Given the description of an element on the screen output the (x, y) to click on. 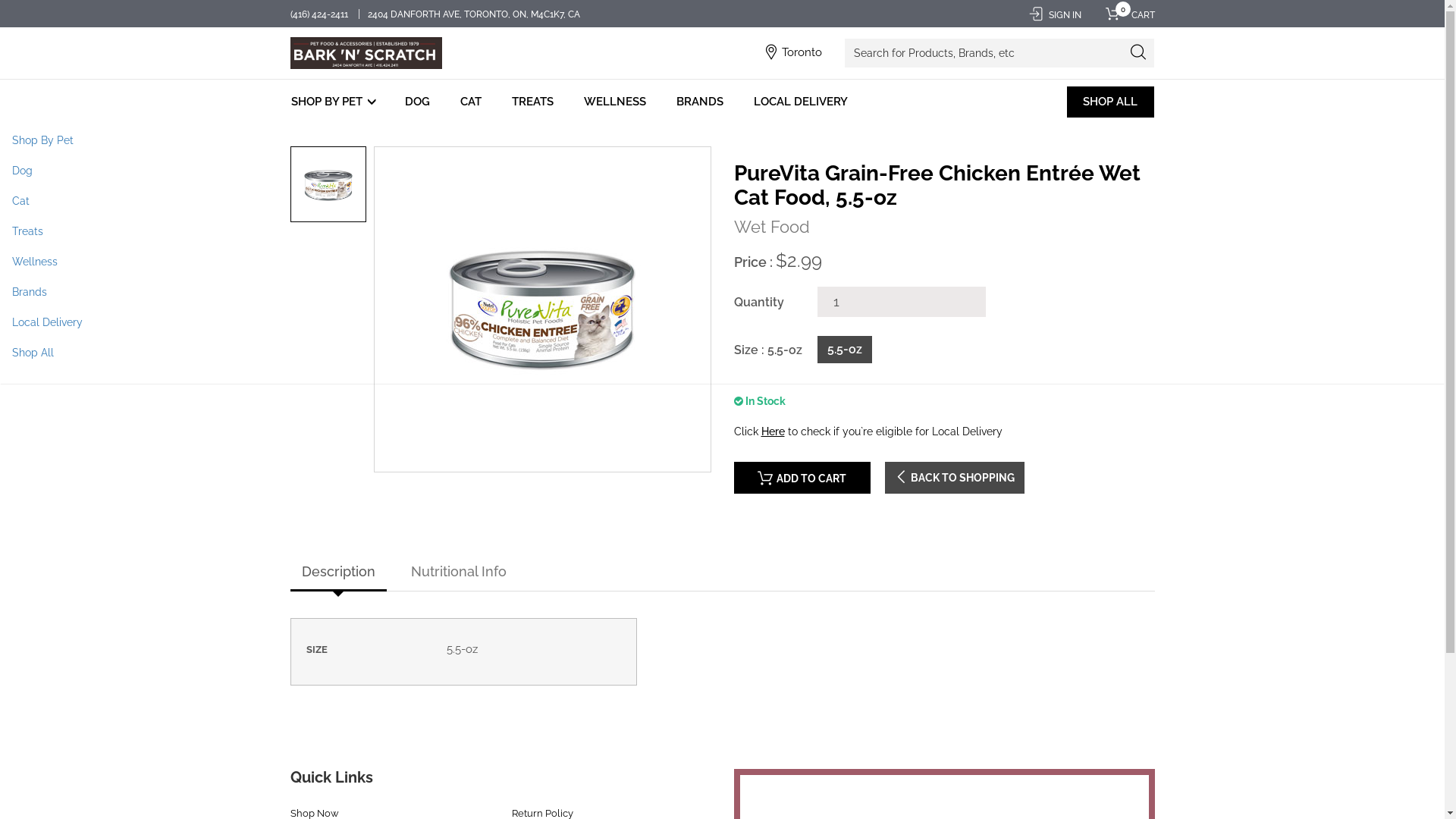
SIGN IN Element type: text (1054, 14)
LOCAL DELIVERY Element type: text (799, 101)
BRANDS Element type: text (698, 101)
TREATS Element type: text (532, 101)
(416) 424-2411 Element type: text (319, 14)
5.5-oz Element type: text (843, 349)
Nutritional Info Element type: text (457, 572)
Description Element type: text (337, 572)
Cat Element type: text (721, 200)
0 CART Element type: text (1125, 14)
Shop All Element type: text (721, 352)
DOG Element type: text (416, 101)
SHOP ALL Element type: text (1109, 101)
Here Element type: text (772, 431)
2404 DANFORTH AVE, TORONTO, ON, M4C1K7, CA Element type: text (474, 14)
Dog Element type: text (721, 170)
BACK TO SHOPPING Element type: text (953, 477)
CAT Element type: text (470, 101)
Shop By Pet Element type: text (721, 140)
Treats Element type: text (721, 231)
Wellness Element type: text (721, 261)
SHOP BY PET Element type: text (334, 101)
ADD TO CART Element type: text (802, 477)
Local Delivery Element type: text (721, 322)
Brands Element type: text (721, 291)
WELLNESS Element type: text (614, 101)
Toronto Element type: text (801, 52)
